Given the description of an element on the screen output the (x, y) to click on. 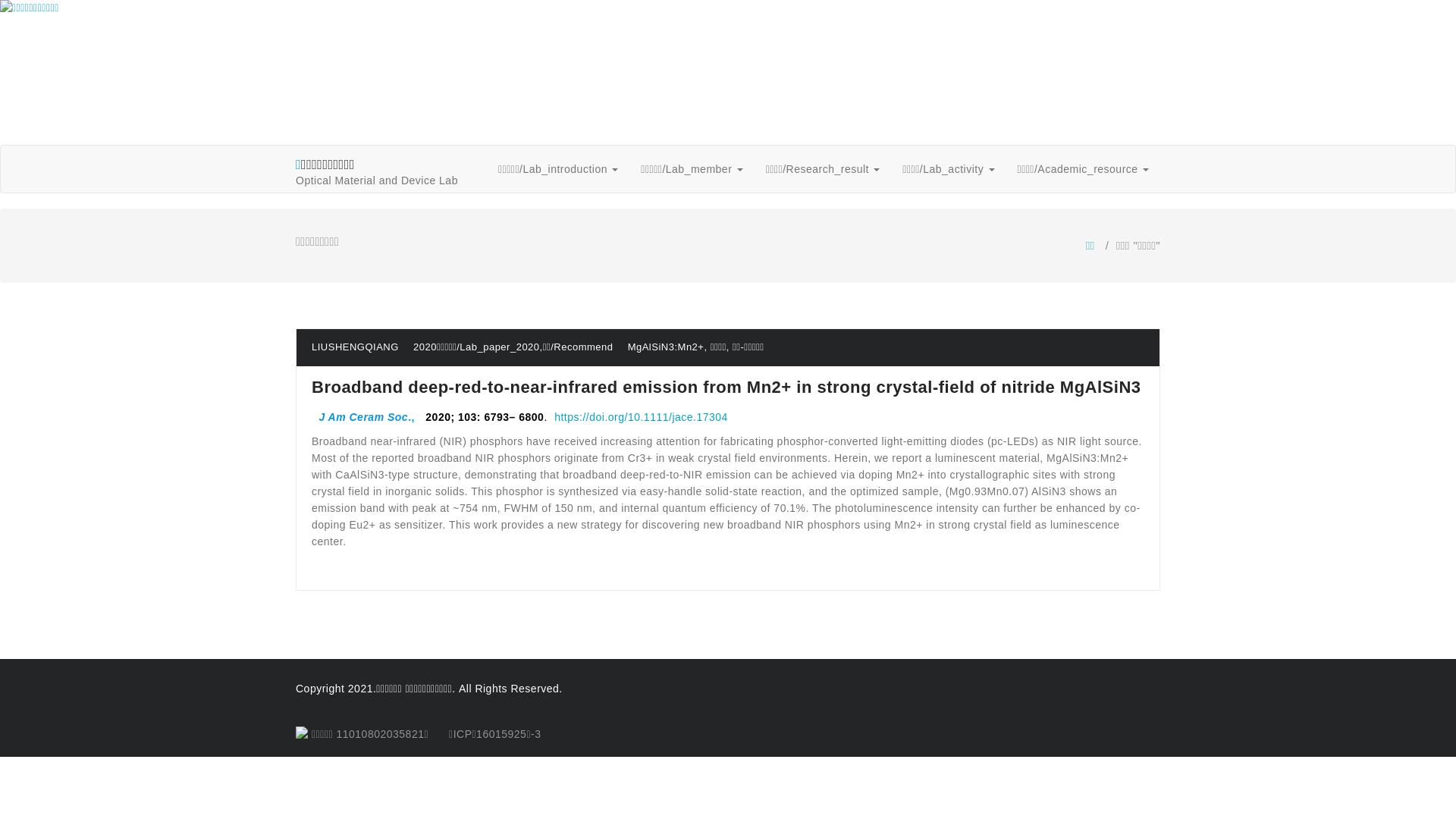
MgAlSiN3:Mn2+ Element type: text (665, 346)
https://doi.org/10.1111/jace.17304 Element type: text (641, 417)
LIUSHENGQIANG Element type: text (354, 346)
